Given the description of an element on the screen output the (x, y) to click on. 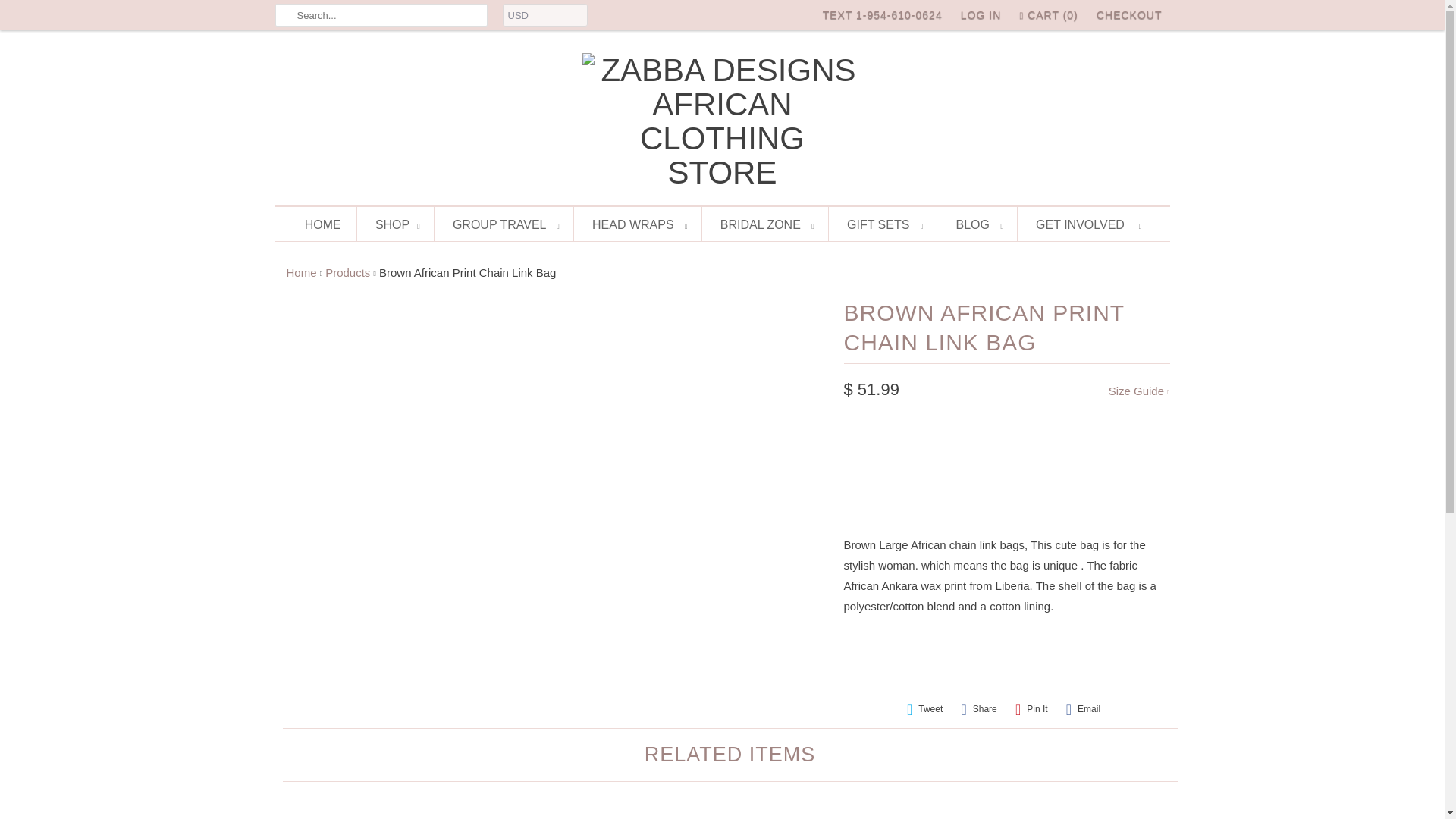
Email this to a friend (1083, 708)
SHOP (397, 224)
HOME (322, 224)
Zabba Designs African Clothing Store (722, 121)
Zabba Designs African Clothing Store (301, 272)
LOG IN (980, 15)
TEXT 1-954-610-0624 (882, 15)
Share this on Facebook (978, 708)
Share this on Pinterest (1031, 708)
Products (346, 272)
